Given the description of an element on the screen output the (x, y) to click on. 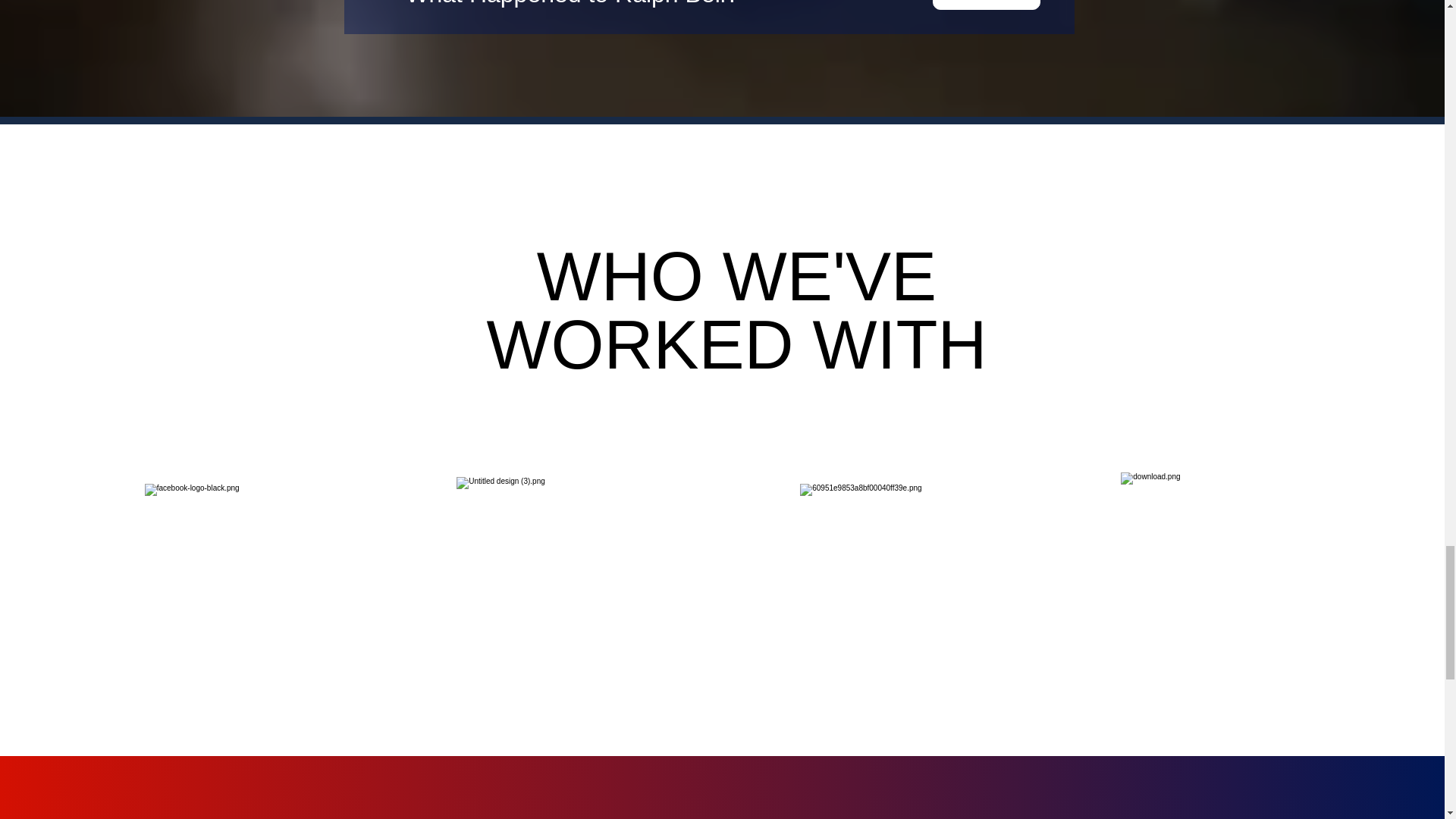
Listen (987, 4)
